Given the description of an element on the screen output the (x, y) to click on. 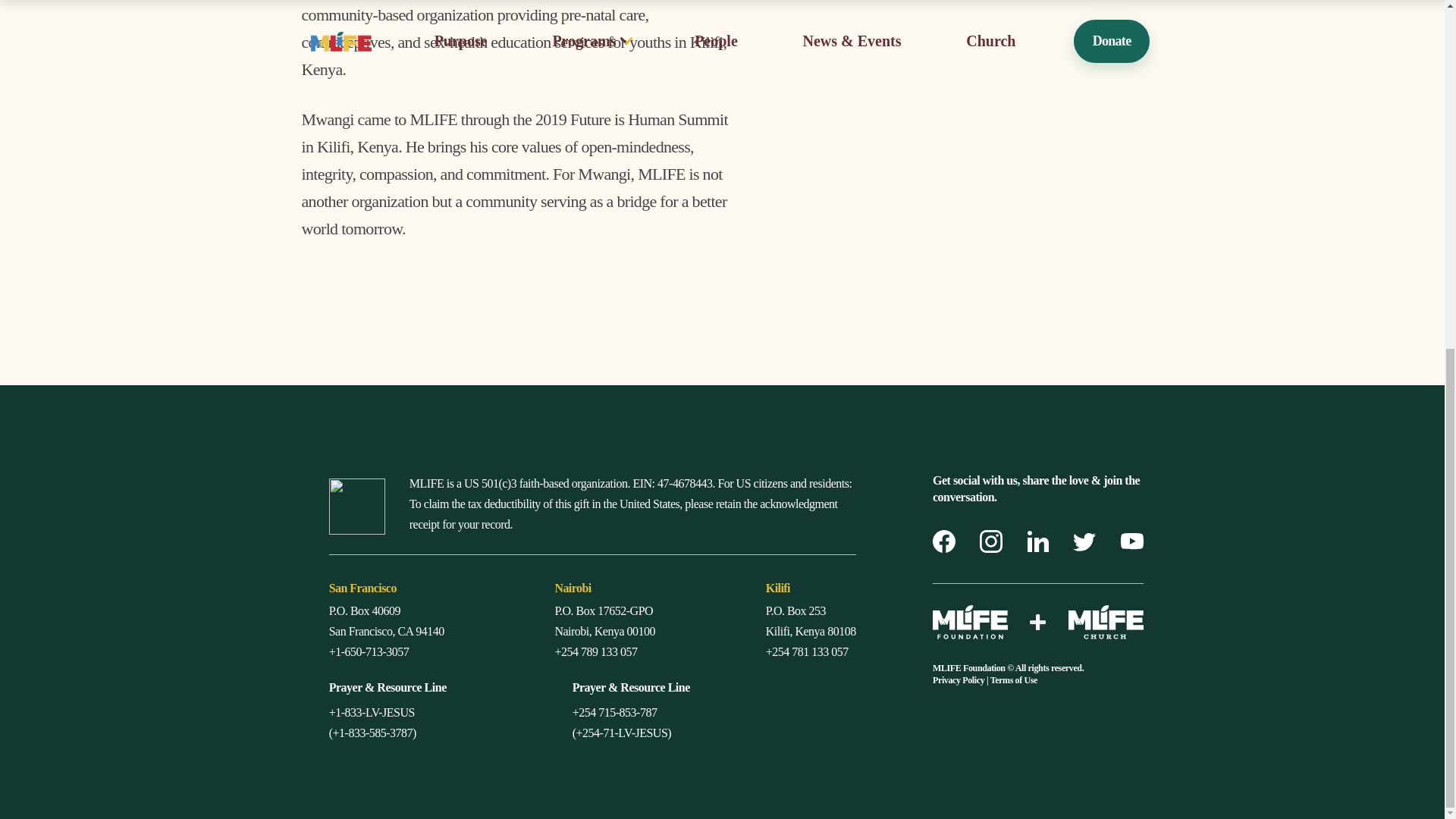
PURPOSE (686, 552)
PEOPLE (679, 619)
Terms of Use (1013, 679)
PROGRAMS (700, 586)
Privacy Policy (958, 679)
DONATE (681, 719)
CHURCH (684, 686)
